Given the description of an element on the screen output the (x, y) to click on. 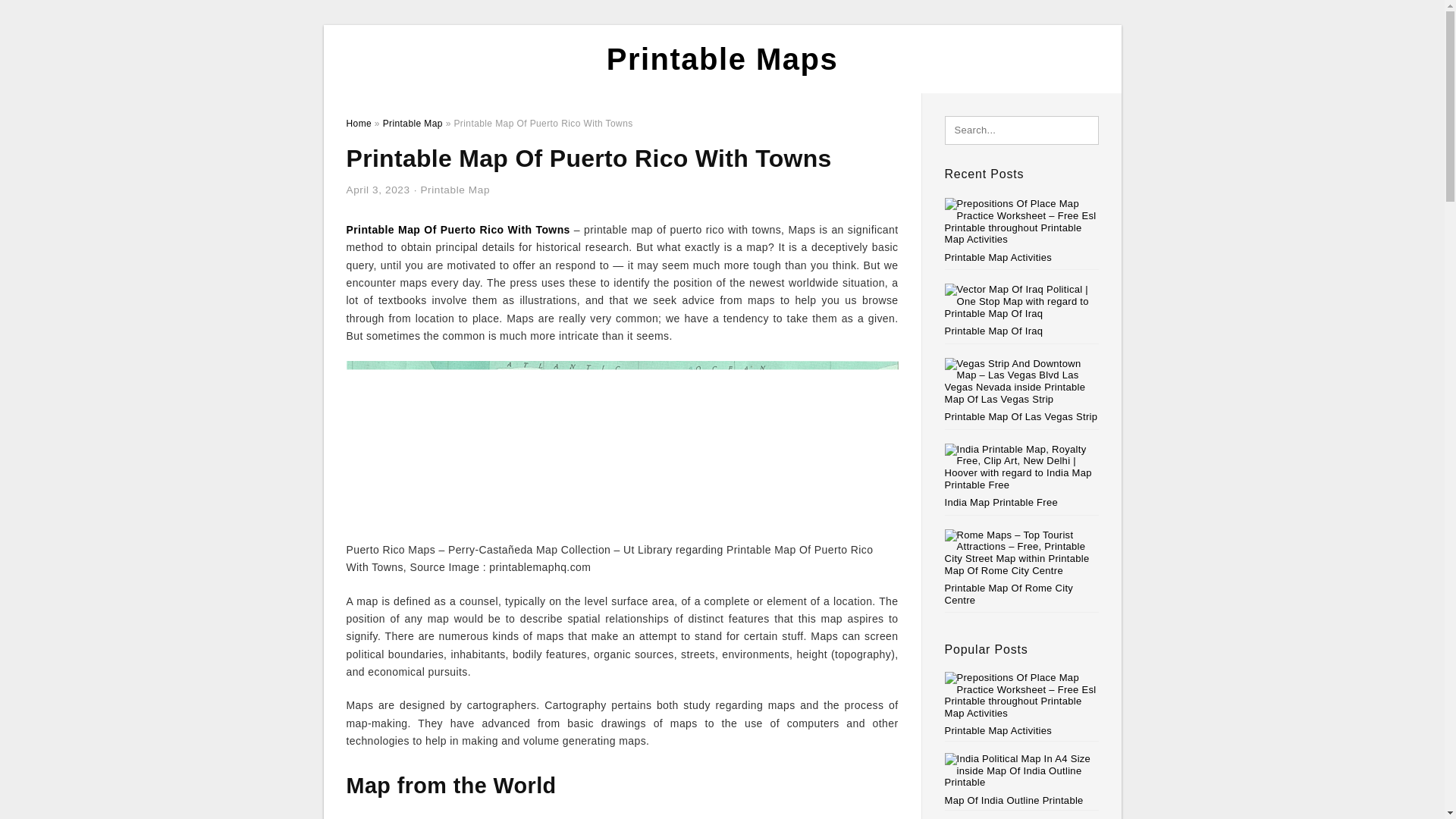
India Map Printable Free (1001, 501)
Printable Map Activities (1021, 704)
Printable Map (412, 122)
Search (43, 15)
Printable Map Activities (998, 256)
Home (358, 122)
Printable Map Of Rome City Centre (1009, 594)
Printable Map Of Iraq (993, 330)
Printable Maps (722, 59)
Printable Map Of Puerto Rico With Towns (457, 229)
Printable Map Of Las Vegas Strip (1020, 416)
Printable Map (454, 189)
